Given the description of an element on the screen output the (x, y) to click on. 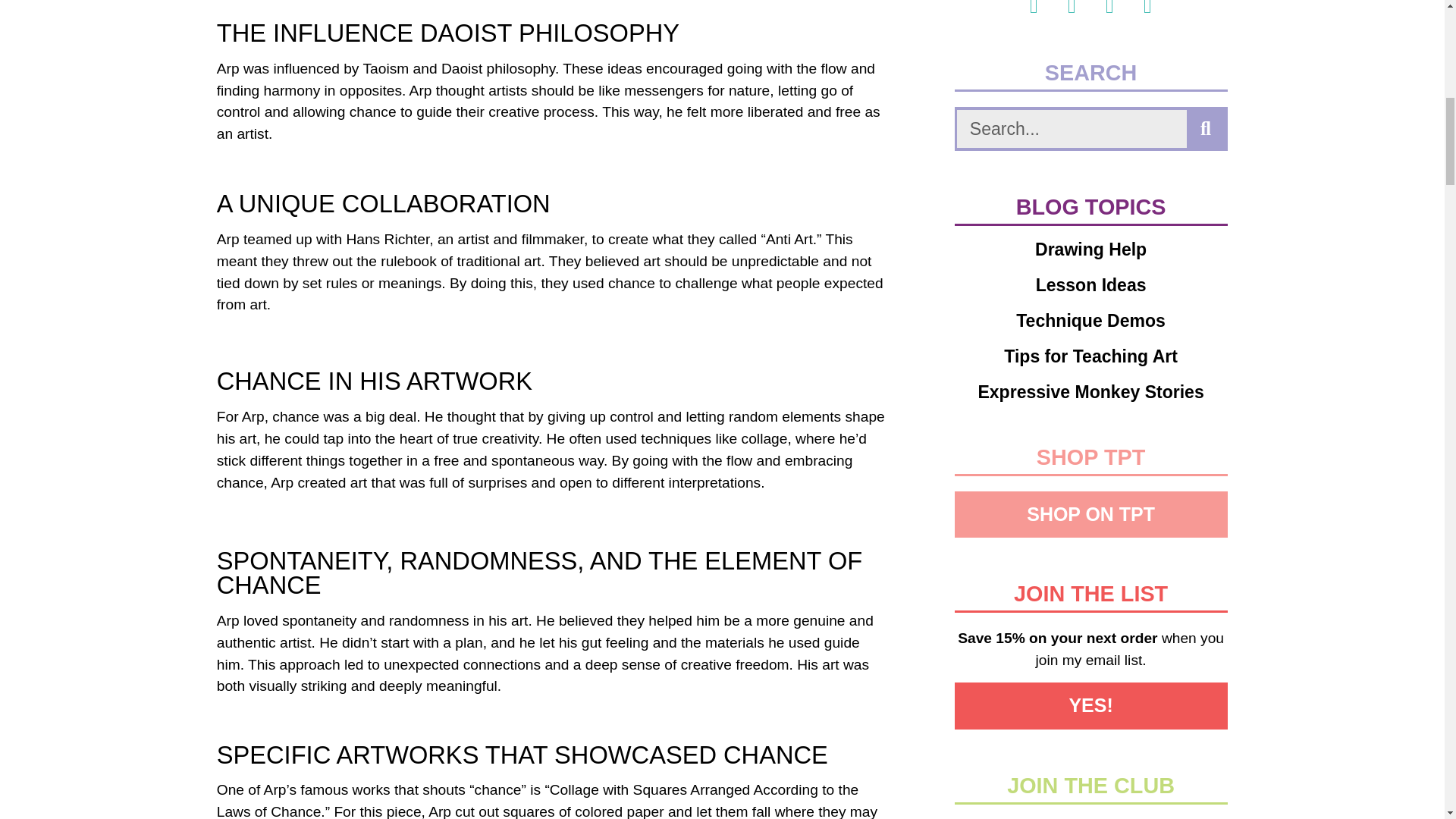
YES! (1091, 705)
Drawing Help (1091, 249)
SHOP ON TPT (1091, 514)
Lesson Ideas (1091, 285)
Tips for Teaching Art (1091, 356)
Expressive Monkey Stories (1091, 392)
Technique Demos (1091, 321)
